Given the description of an element on the screen output the (x, y) to click on. 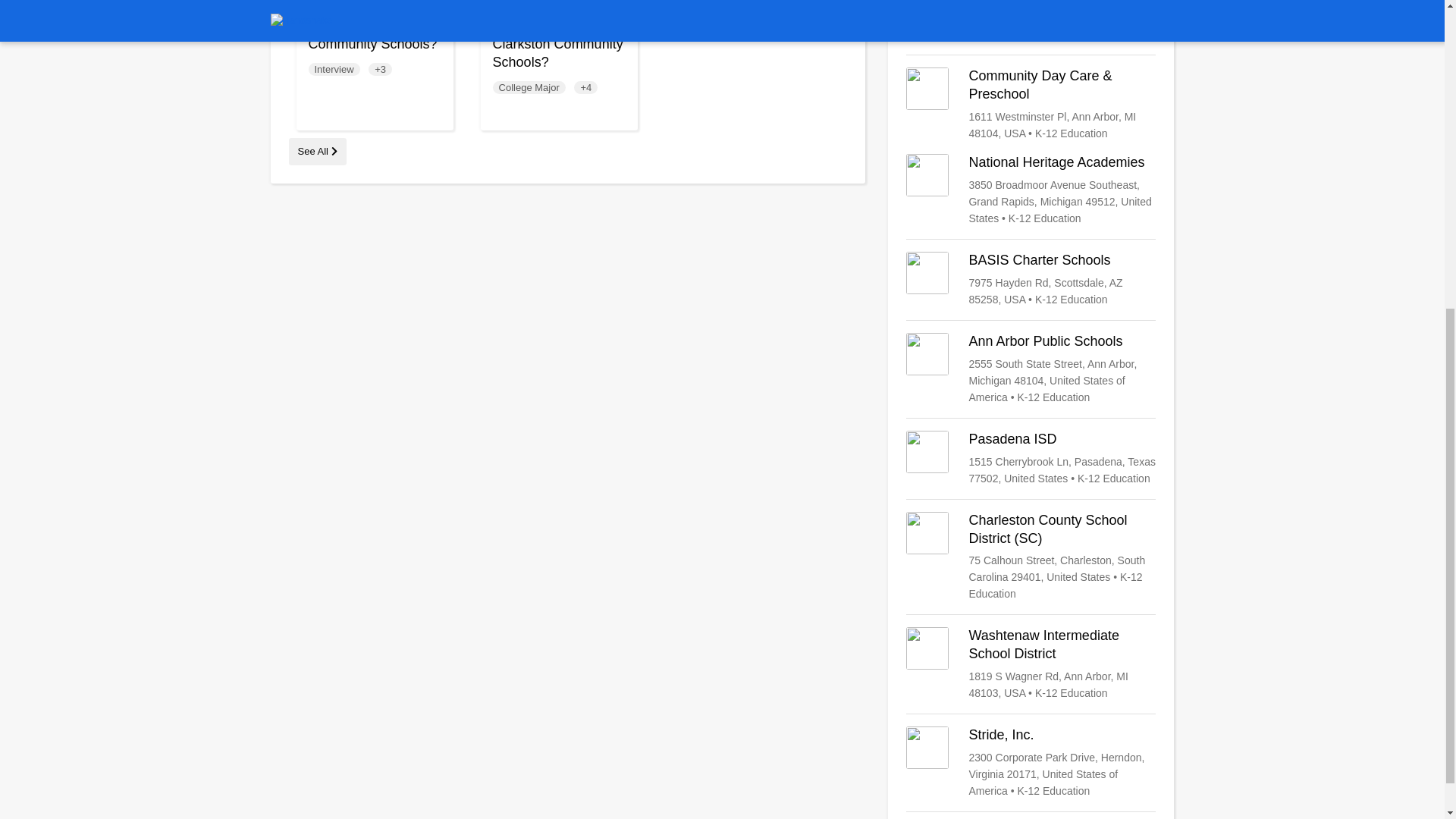
St. Vrain Valley School District (1030, 21)
Stride, Inc. (1030, 762)
BASIS Charter Schools (1030, 279)
National Heritage Academies (1030, 189)
College Major (529, 87)
Washtenaw Intermediate School District (1030, 664)
Pasadena ISD (1030, 458)
Interview (333, 69)
Ann Arbor Public Schools (1030, 368)
See All (317, 151)
